Given the description of an element on the screen output the (x, y) to click on. 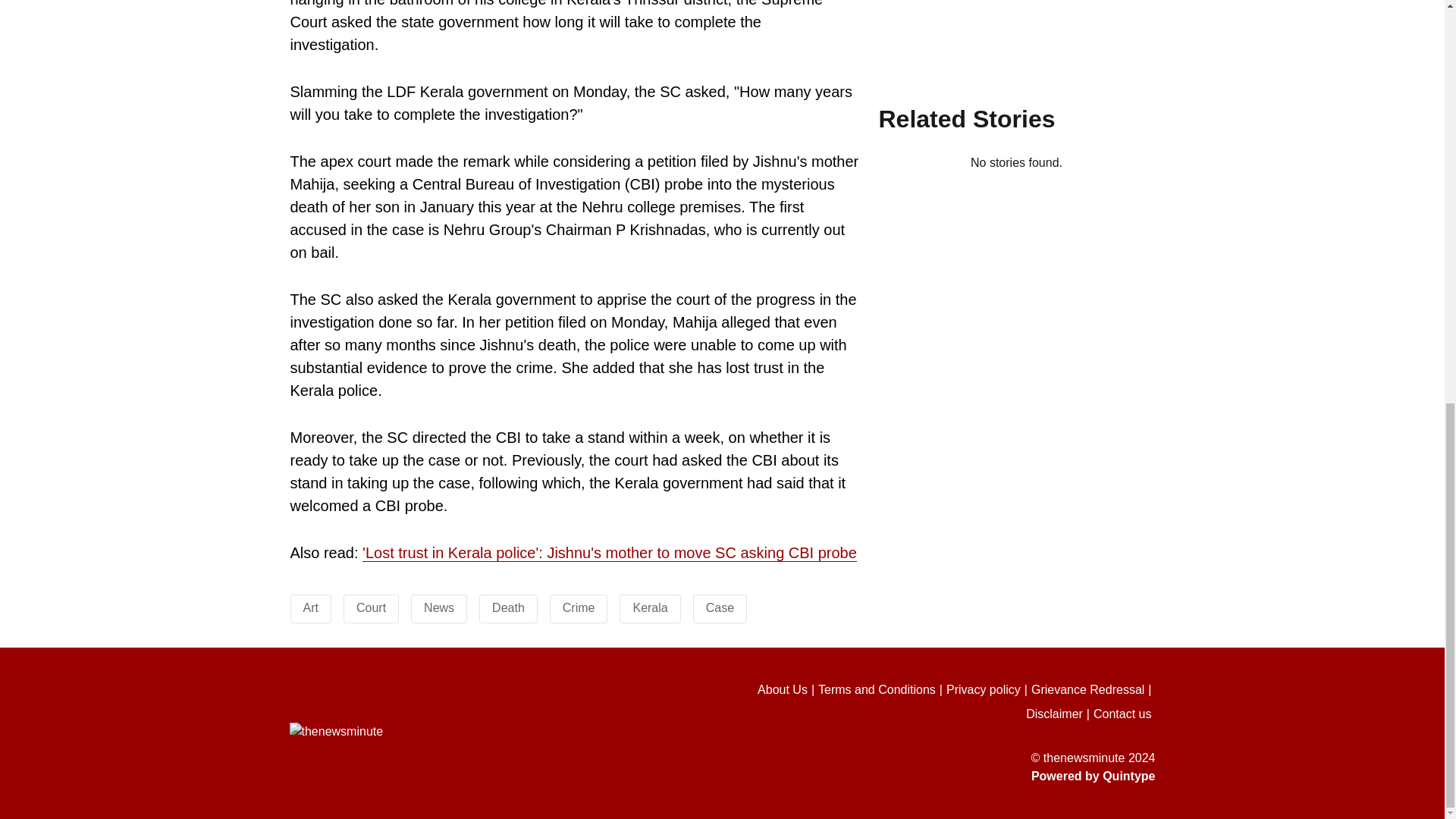
Disclaimer (1059, 713)
Grievance Redressal (1093, 689)
Crime (578, 607)
News (438, 607)
Court (370, 607)
Case (719, 607)
Powered by Quintype (928, 776)
Kerala (648, 607)
Privacy policy (988, 689)
